Given the description of an element on the screen output the (x, y) to click on. 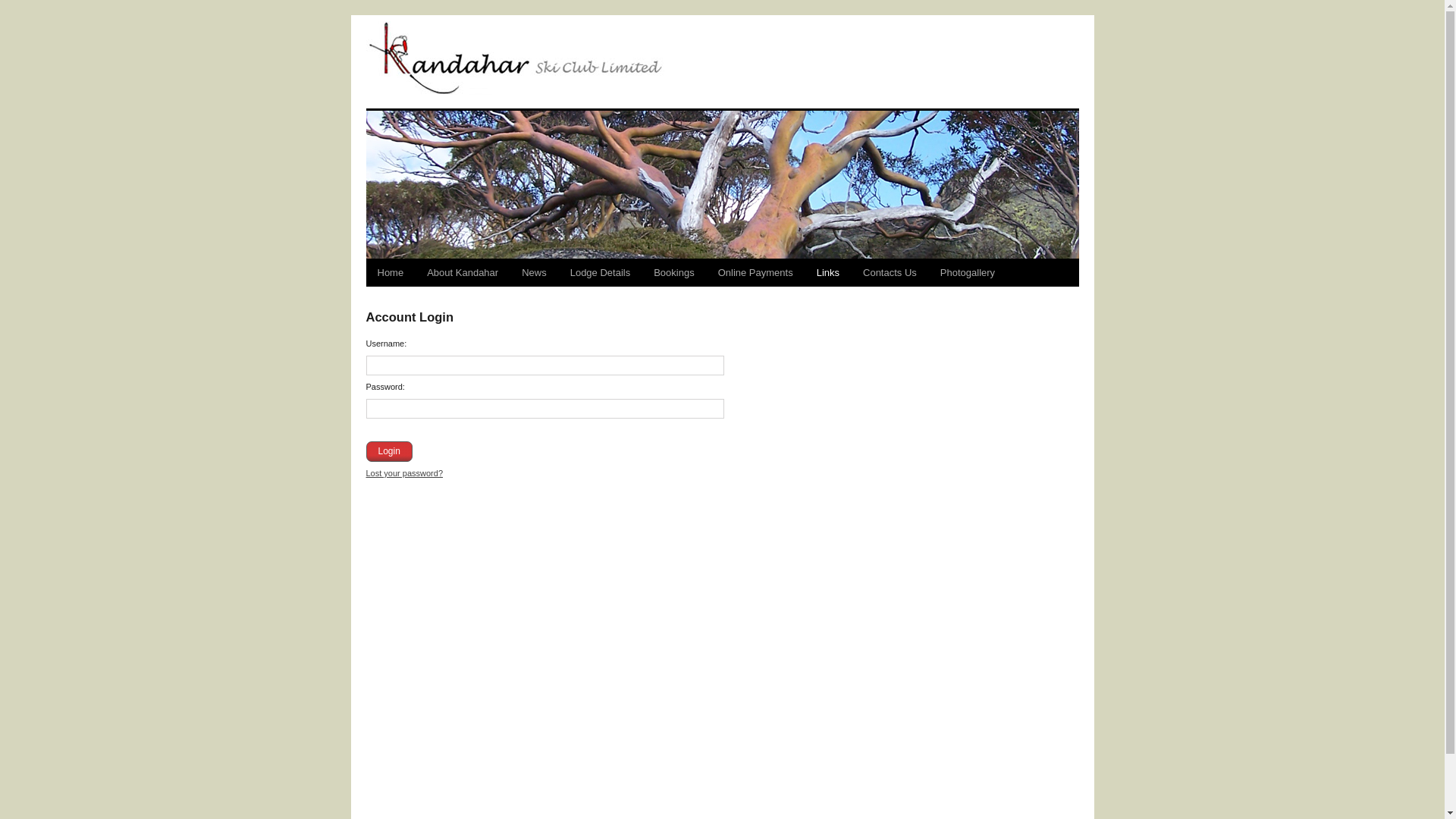
Lodge Details Element type: text (600, 272)
Login Element type: text (388, 451)
Contacts Us Element type: text (889, 272)
Photogallery Element type: text (967, 272)
Lost your password? Element type: text (403, 472)
Bookings Element type: text (673, 272)
Home Element type: text (389, 272)
links_940x198.jpg Element type: hover (721, 185)
About Kandahar Element type: text (462, 272)
Online Payments Element type: text (755, 272)
News Element type: text (534, 272)
Links Element type: text (827, 272)
